Given the description of an element on the screen output the (x, y) to click on. 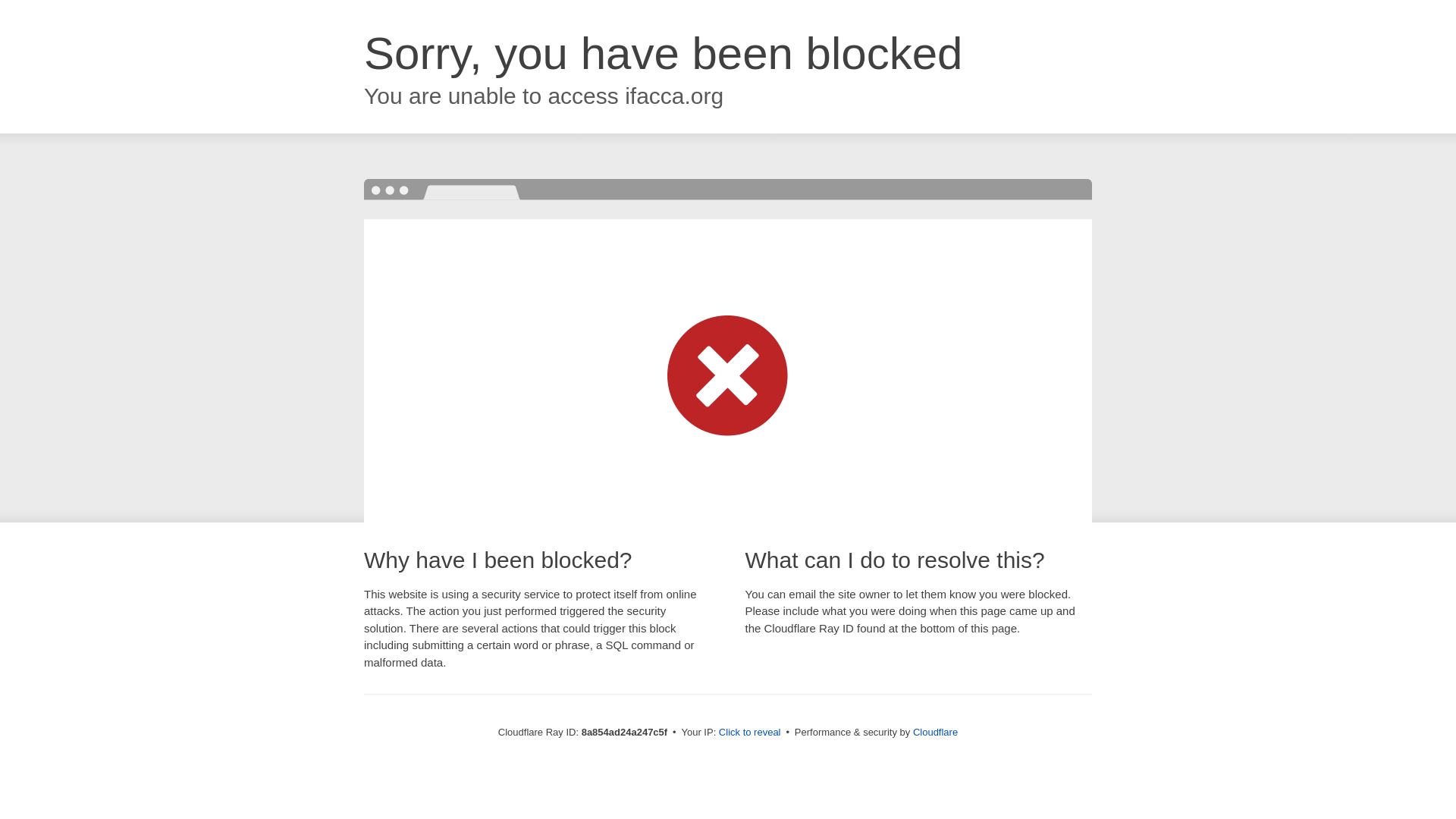
Cloudflare (935, 731)
Click to reveal (749, 732)
